Given the description of an element on the screen output the (x, y) to click on. 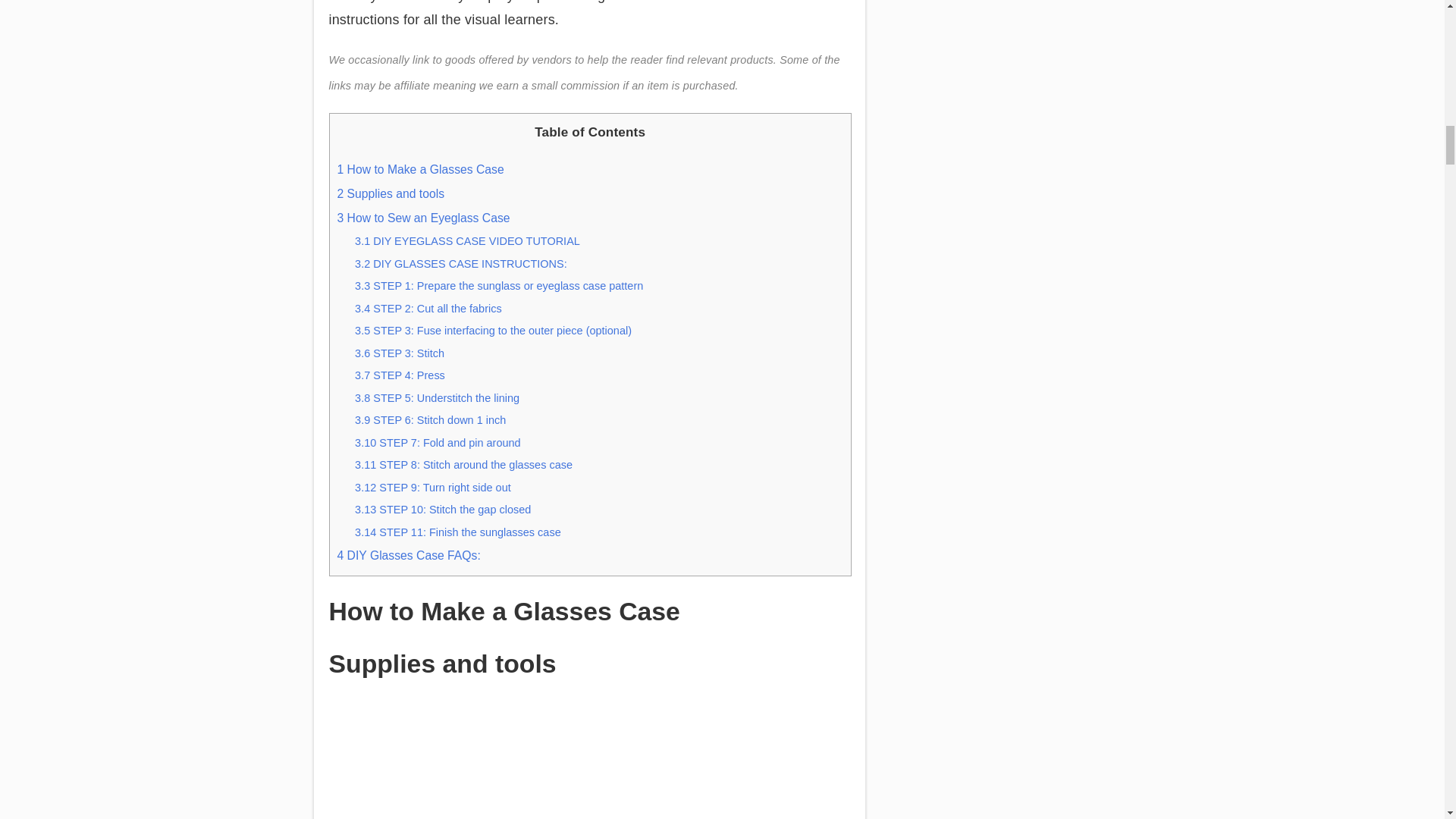
3 How to Sew an Eyeglass Case (422, 217)
3.8 STEP 5: Understitch the lining (437, 398)
3.11 STEP 8: Stitch around the glasses case (463, 464)
1 How to Make a Glasses Case (419, 169)
3.2 DIY GLASSES CASE INSTRUCTIONS: (461, 263)
3.9 STEP 6: Stitch down 1 inch (430, 419)
3.1 DIY EYEGLASS CASE VIDEO TUTORIAL (467, 241)
3.3 STEP 1: Prepare the sunglass or eyeglass case pattern (499, 285)
2 Supplies and tools (390, 193)
3.6 STEP 3: Stitch (399, 353)
3.10 STEP 7: Fold and pin around (438, 442)
3.4 STEP 2: Cut all the fabrics (428, 308)
3.7 STEP 4: Press (400, 375)
